Given the description of an element on the screen output the (x, y) to click on. 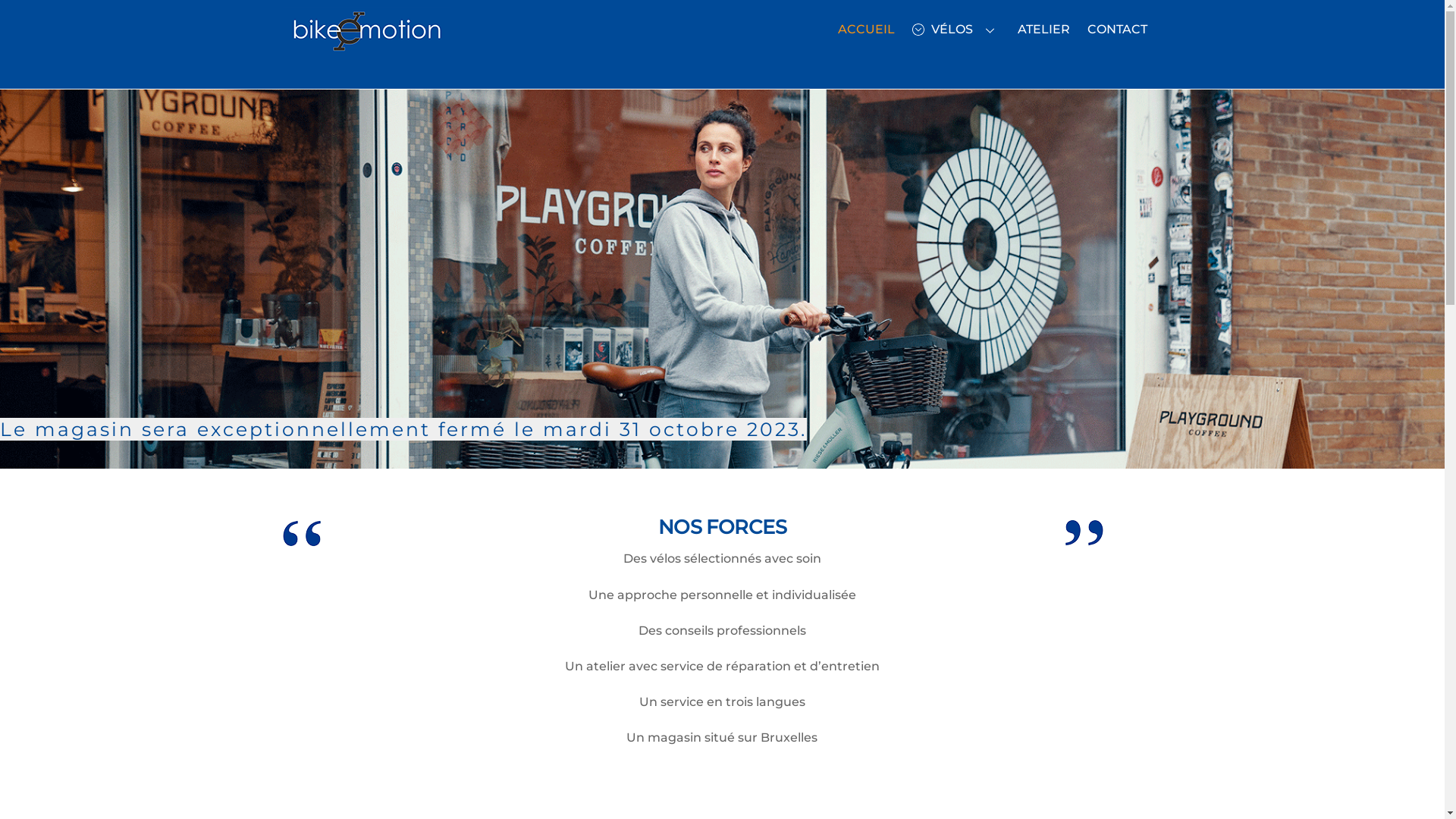
Accueil Element type: hover (301, 533)
Accueil Element type: hover (1084, 533)
Bikeemotion Element type: hover (366, 49)
ACCUEIL Element type: text (865, 29)
CONTACT Element type: text (1116, 29)
bike_emotion_PMS_2018_LogoAccueil_Web Element type: hover (366, 31)
ATELIER Element type: text (1043, 29)
